Given the description of an element on the screen output the (x, y) to click on. 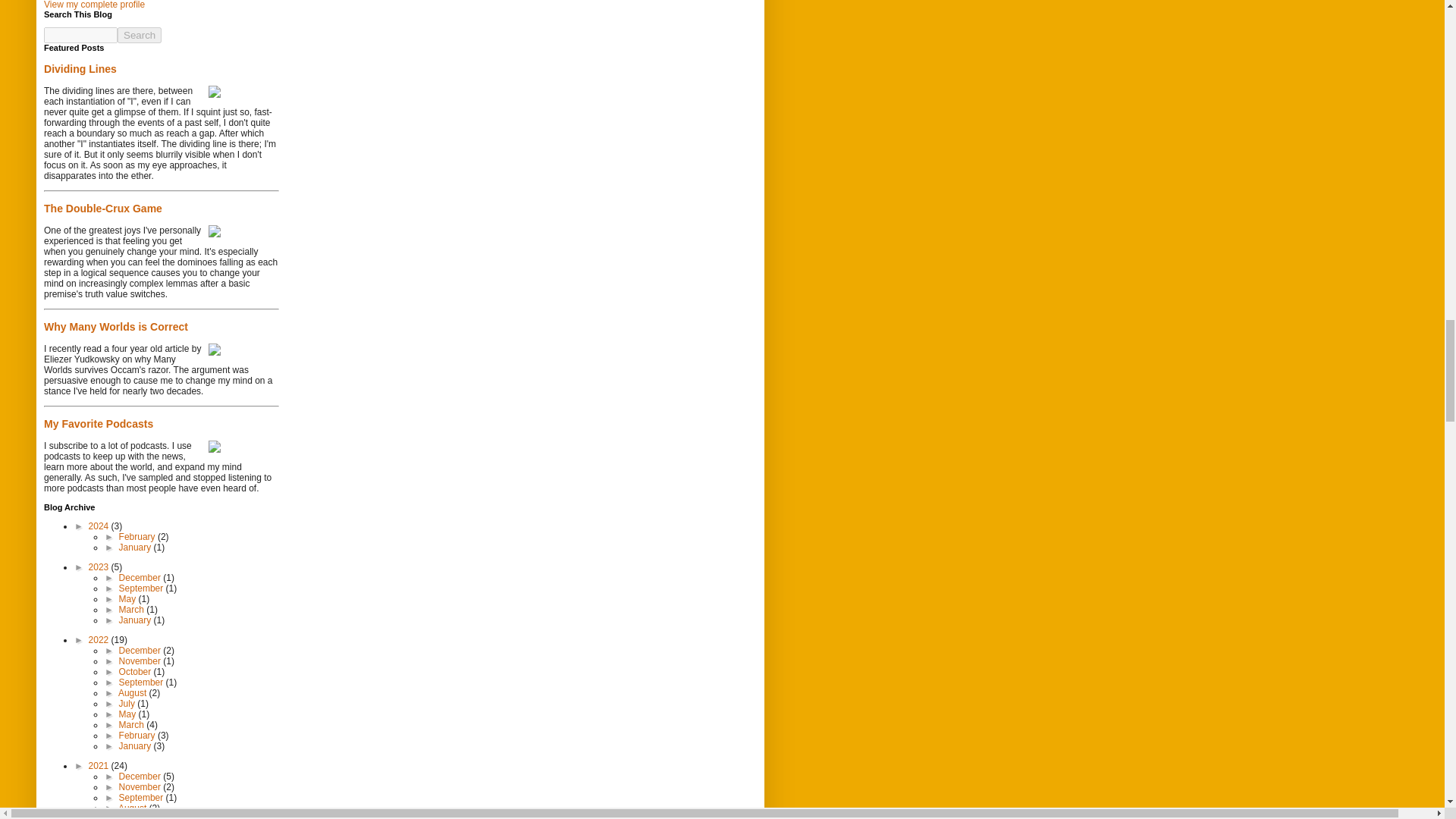
Dividing Lines (79, 69)
Search (139, 35)
Search (139, 35)
View my complete profile (93, 4)
search (139, 35)
search (80, 35)
Search (139, 35)
